Given the description of an element on the screen output the (x, y) to click on. 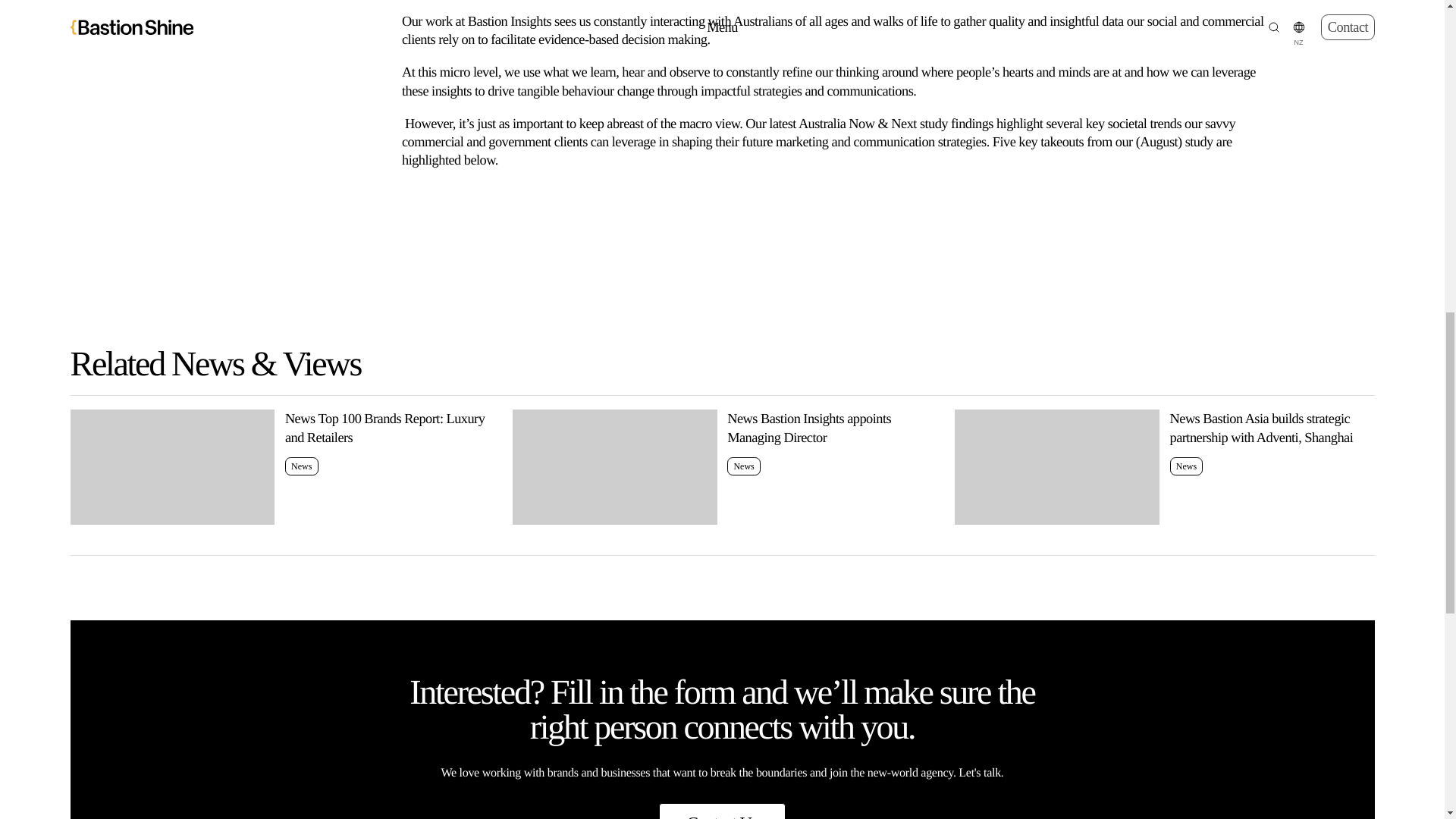
Contact Us (721, 466)
